Given the description of an element on the screen output the (x, y) to click on. 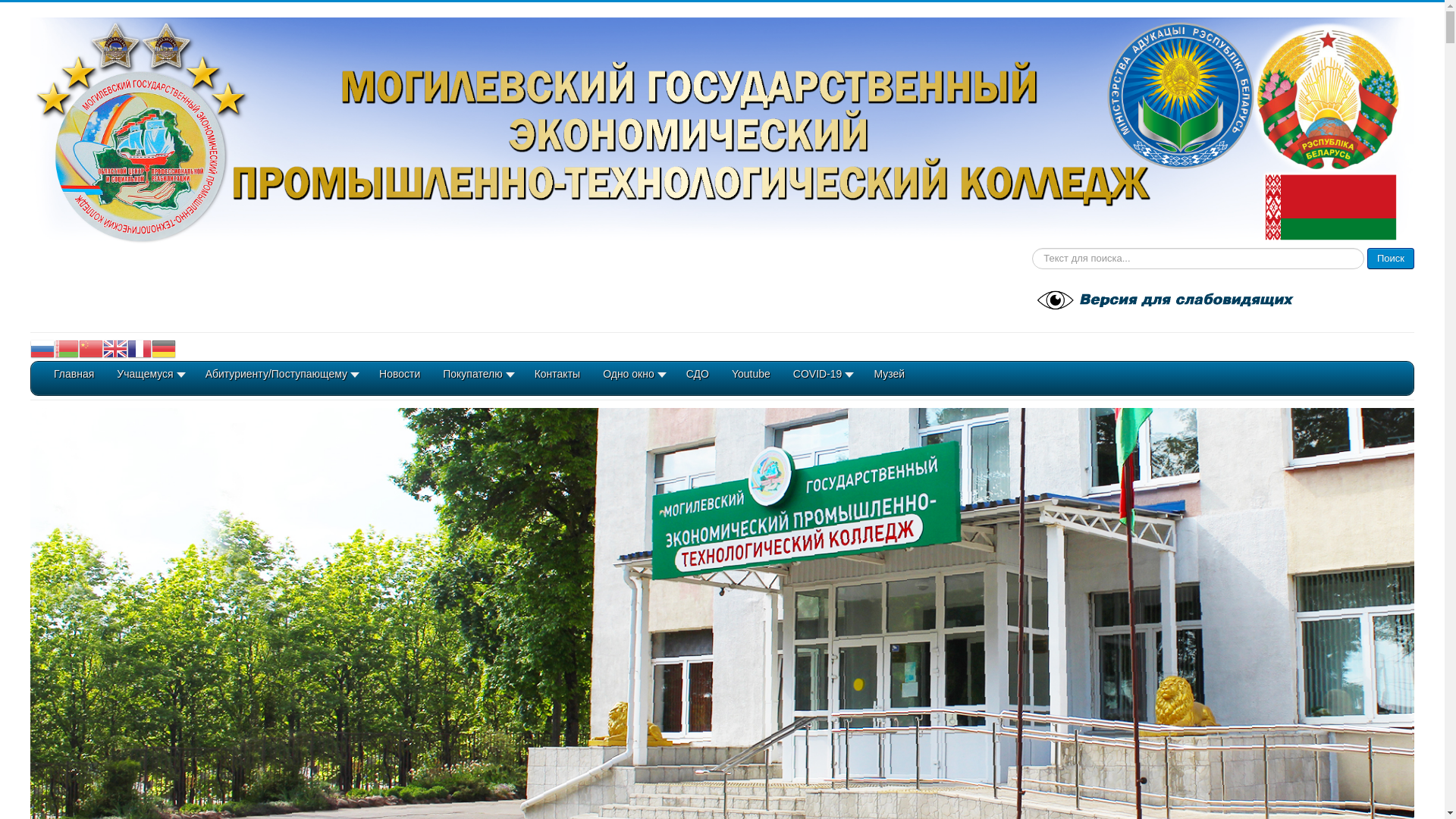
German Element type: hover (163, 348)
French Element type: hover (139, 348)
English Element type: hover (115, 348)
Belarusian Element type: hover (66, 348)
COVID-19 Element type: text (822, 379)
Chinese (Simplified) Element type: hover (90, 348)
Russian Element type: hover (42, 348)
Youtube Element type: text (750, 379)
